Given the description of an element on the screen output the (x, y) to click on. 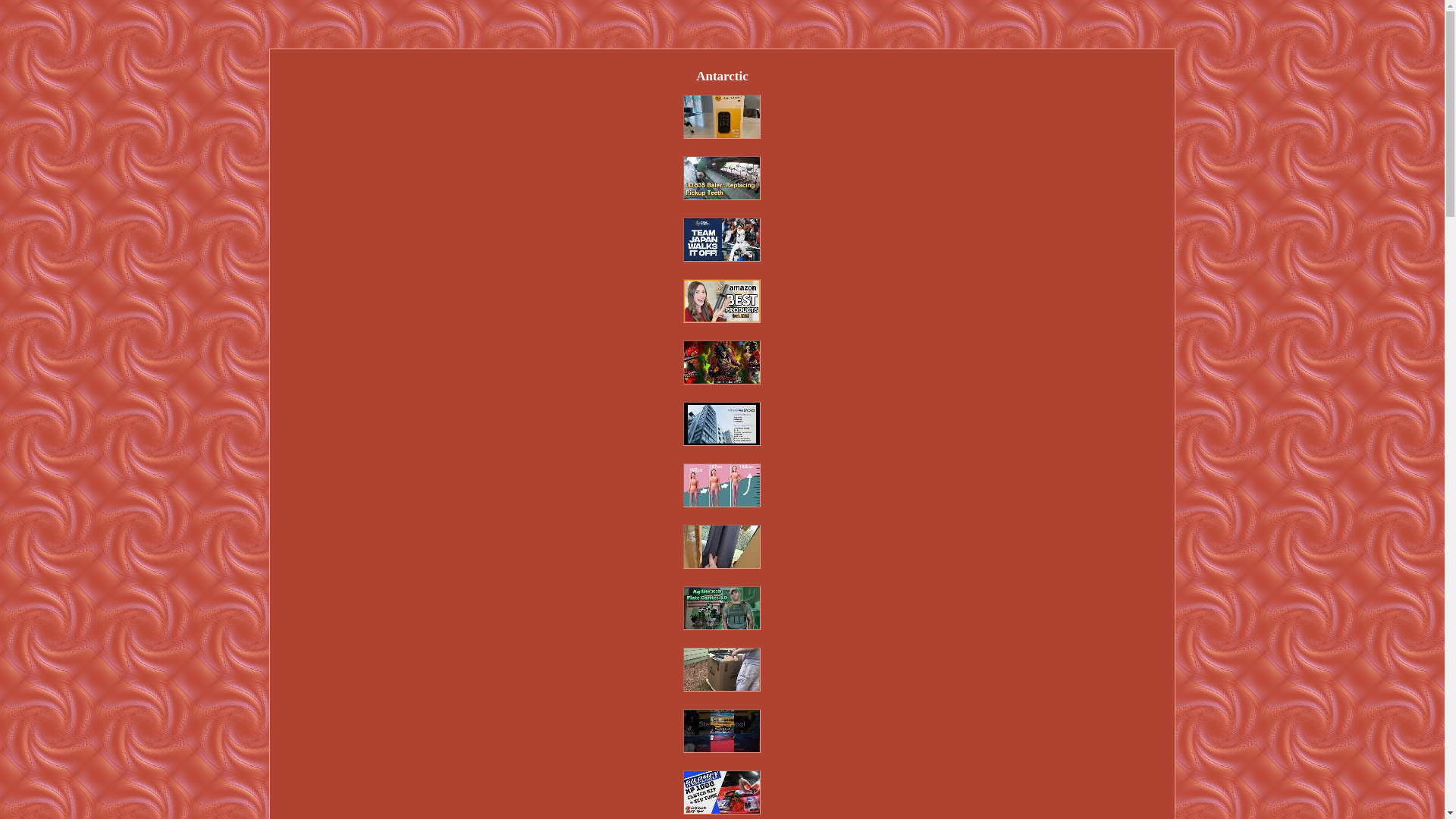
Item Height Element type: hover (721, 485)
Condor Military PALS/MOLLE Quick Release Plate Carrier QPC Element type: hover (721, 608)
Most popular items Element type: hover (721, 301)
John Deere 430 530 Round Baler Belt 531 Belts John Deere Element type: hover (721, 178)
